Given the description of an element on the screen output the (x, y) to click on. 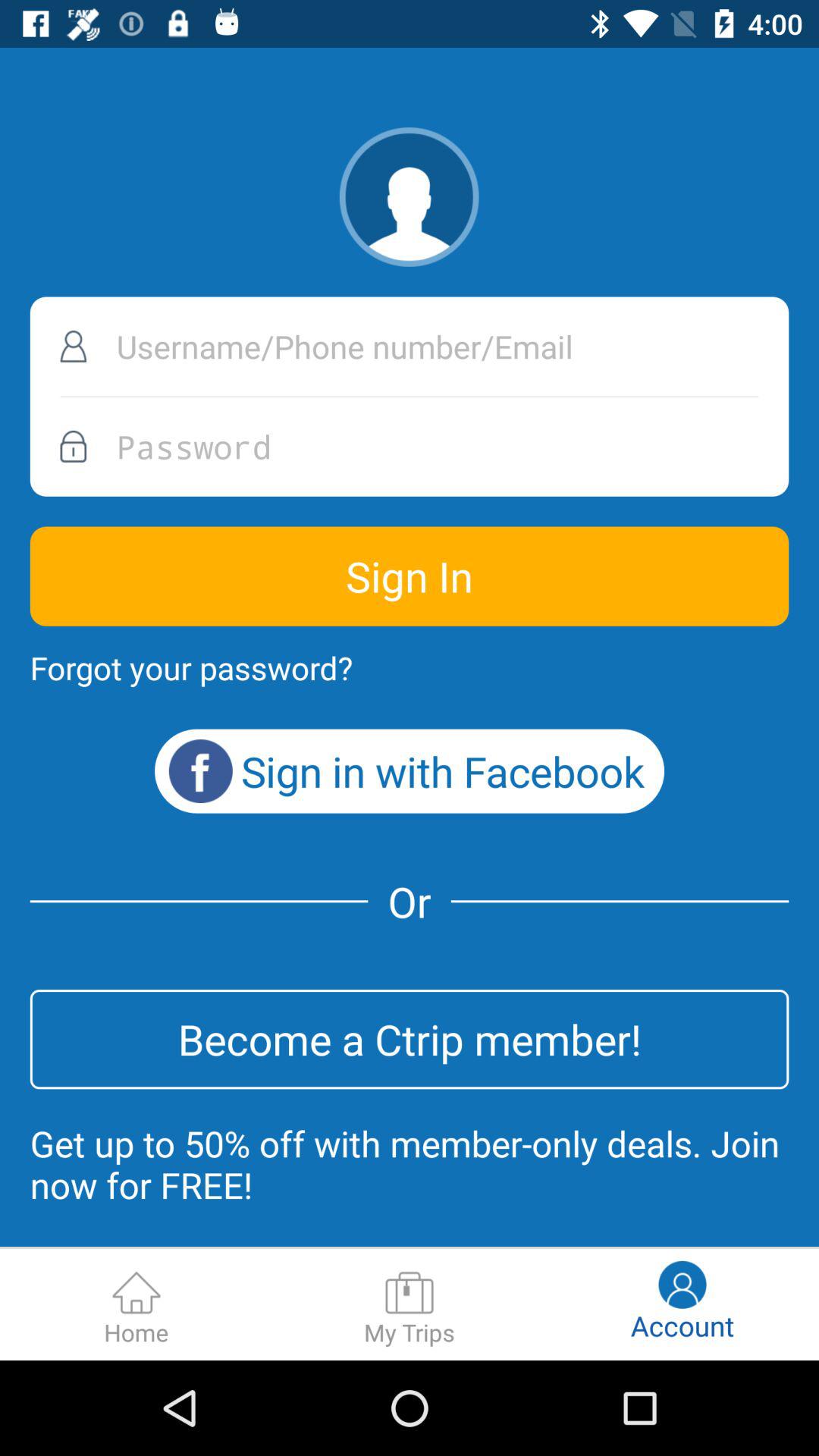
press item above sign in with (191, 667)
